Given the description of an element on the screen output the (x, y) to click on. 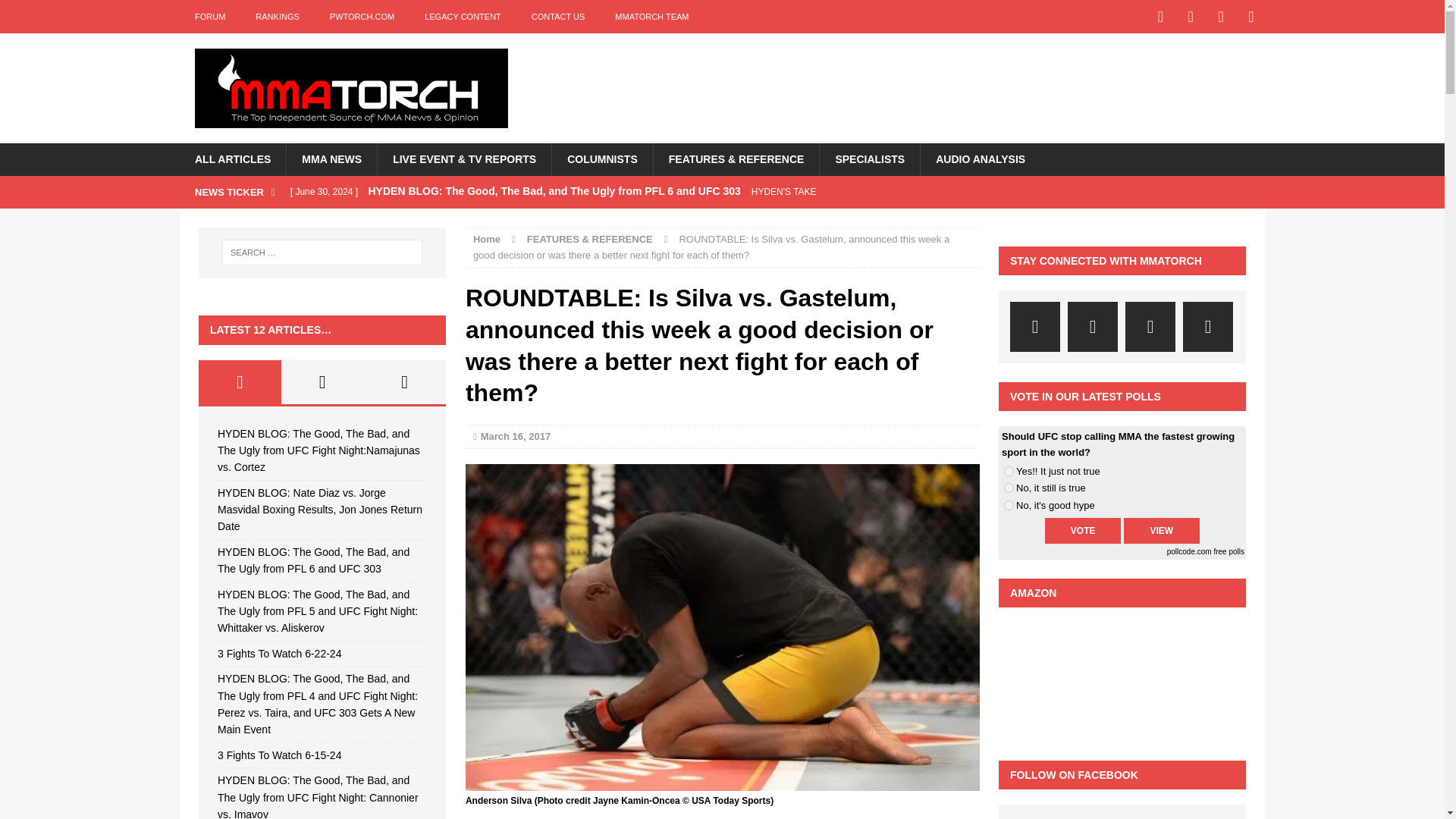
 Vote  (1083, 530)
 View  (1161, 530)
MMATorch (350, 88)
1 (1008, 470)
2 (1008, 488)
3 (1008, 505)
